Given the description of an element on the screen output the (x, y) to click on. 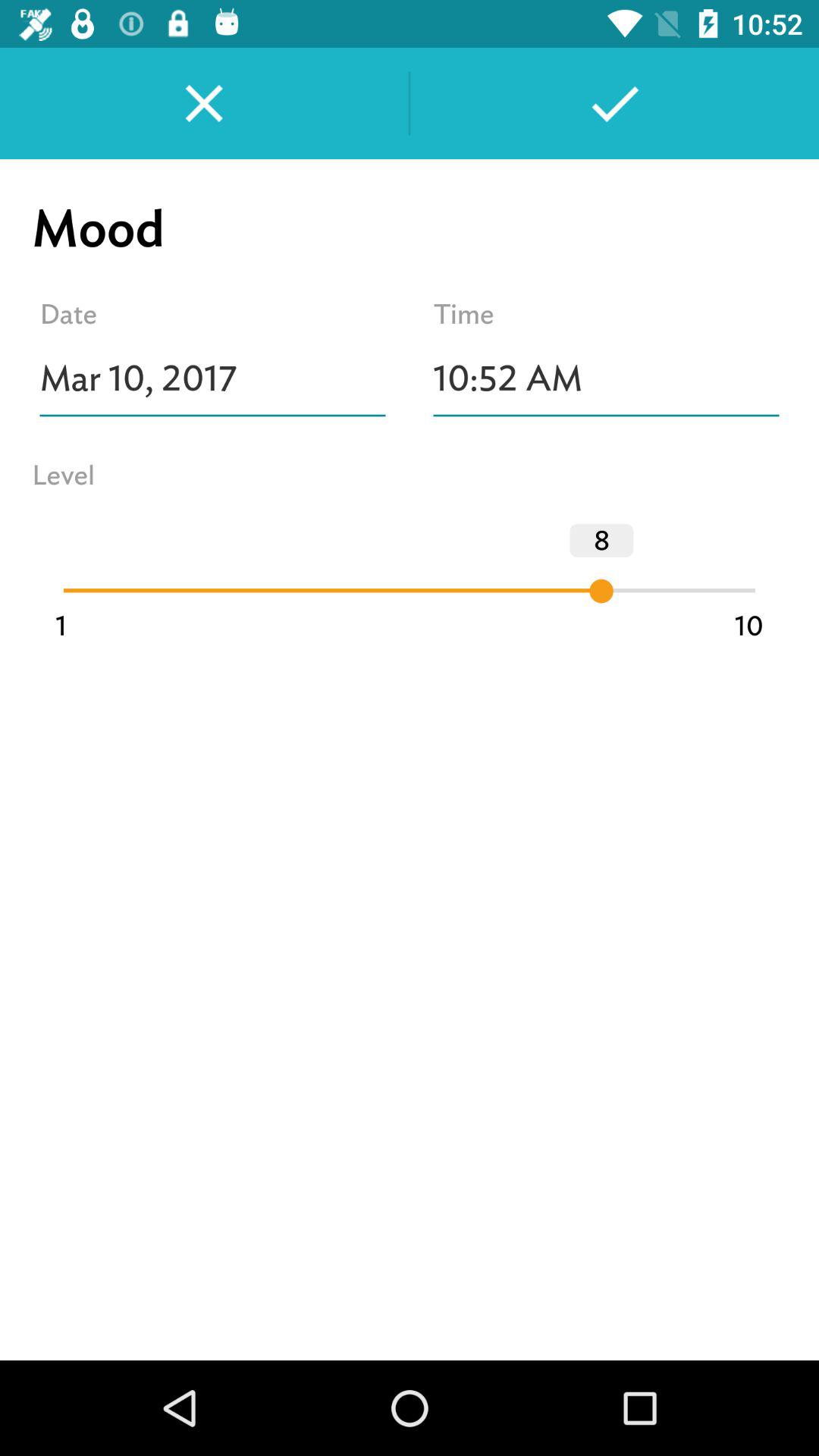
click item next to 10:52 am icon (212, 378)
